Given the description of an element on the screen output the (x, y) to click on. 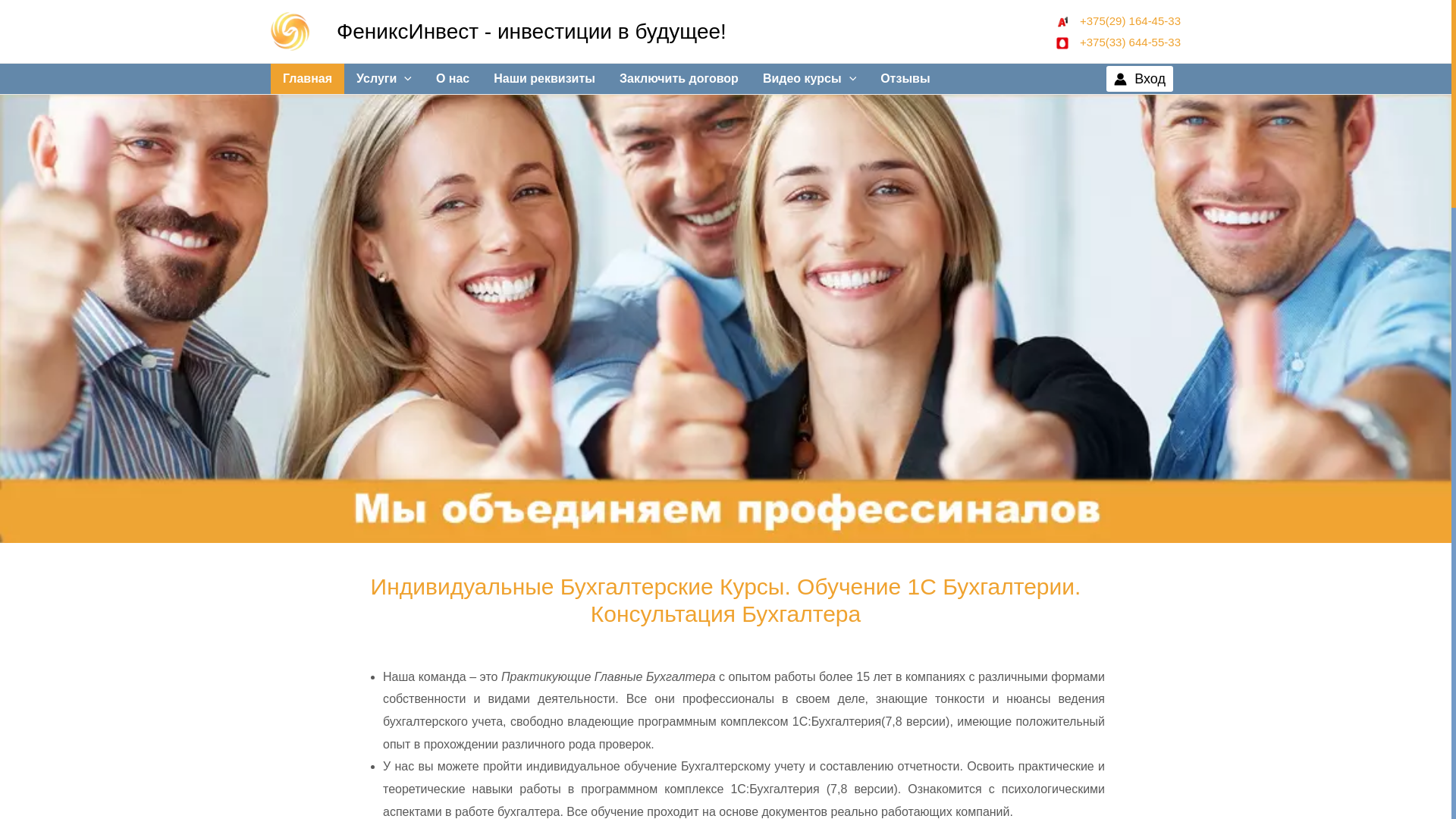
   +375(33) 644-55-33 Element type: text (1117, 40)
   +375(29) 164-45-33 Element type: text (1117, 20)
